Given the description of an element on the screen output the (x, y) to click on. 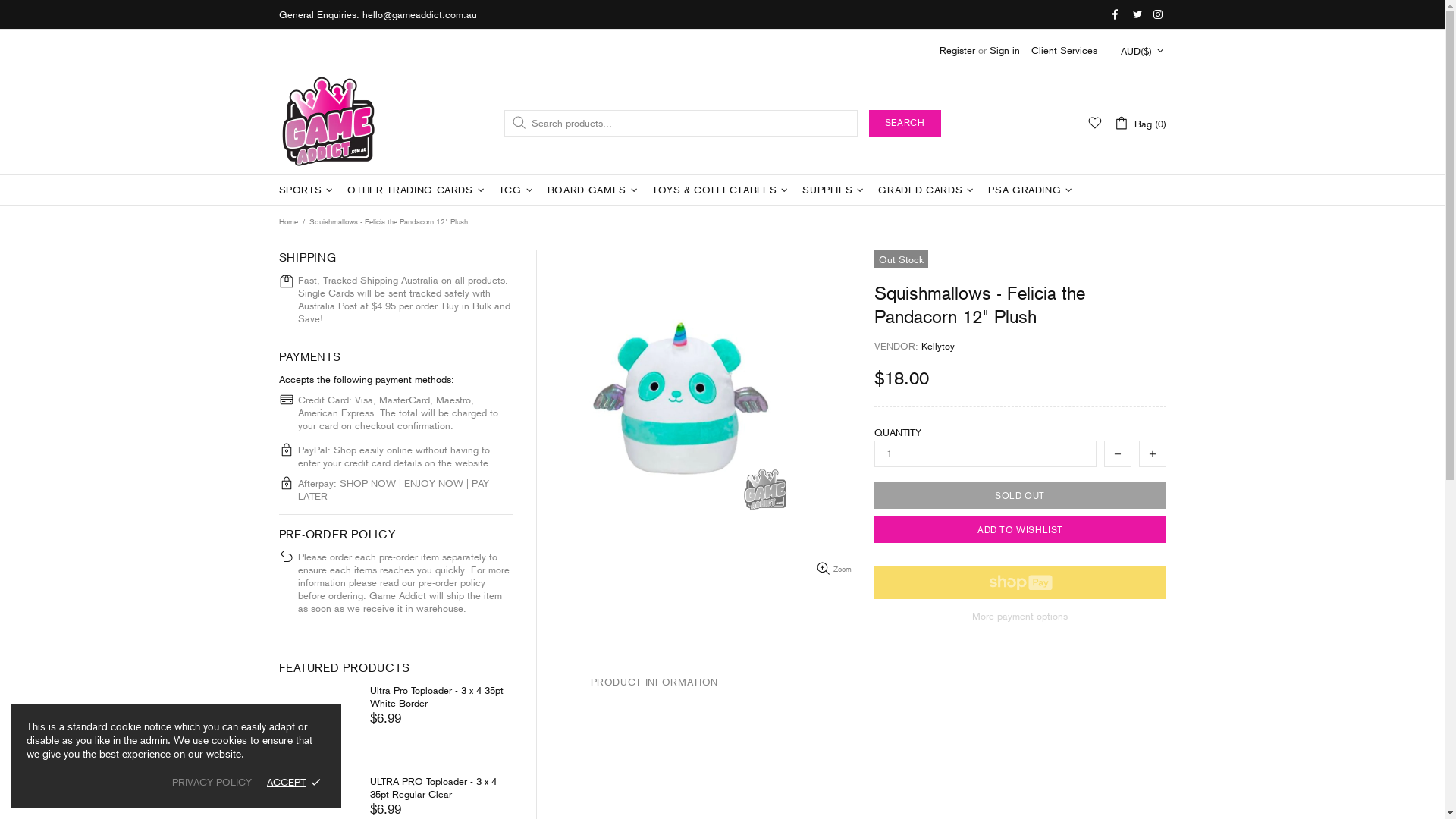
SEARCH Element type: text (905, 122)
Game Addict Australia Element type: text (329, 122)
Ultra Pro Toploader - 3 x 4 35pt White Border Element type: text (441, 696)
BOARD GAMES Element type: text (594, 190)
OTHER TRADING CARDS Element type: text (417, 190)
Register Element type: text (956, 49)
Sign in Element type: text (1003, 49)
PSA GRADING Element type: text (1031, 190)
PRIVACY POLICY Element type: text (211, 781)
SUPPLIES Element type: text (834, 190)
SPORTS Element type: text (307, 190)
Client Services Element type: text (1064, 49)
More payment options Element type: text (1019, 615)
TCG Element type: text (517, 190)
Home Element type: text (287, 221)
TOYS & COLLECTABLES Element type: text (721, 190)
GRADED CARDS Element type: text (927, 190)
SOLD OUT Element type: text (1019, 495)
ADD TO WISHLIST Element type: text (1019, 529)
ULTRA PRO Toploader - 3 x 4 35pt Regular Clear Element type: text (441, 787)
Bag (0) Element type: text (1139, 122)
